Given the description of an element on the screen output the (x, y) to click on. 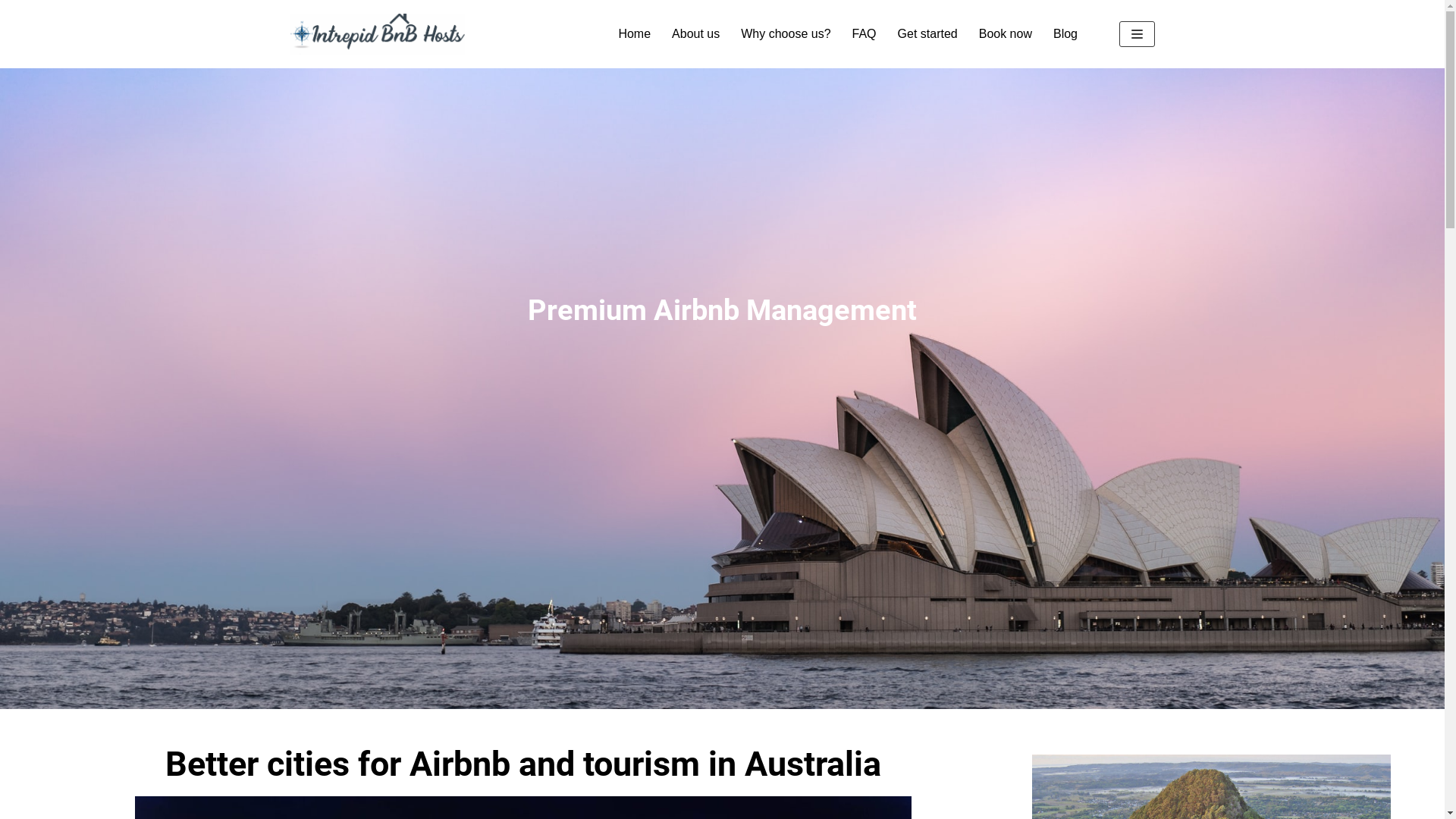
Blog Element type: text (1065, 33)
Book now Element type: text (1005, 33)
Get started Element type: text (927, 33)
About us Element type: text (695, 33)
Intrepid BnB Hosts Element type: hover (376, 33)
Home Element type: text (634, 33)
FAQ Element type: text (864, 33)
Skip to content Element type: text (15, 7)
Navigation Menu Element type: text (1136, 34)
Why choose us? Element type: text (785, 33)
